Given the description of an element on the screen output the (x, y) to click on. 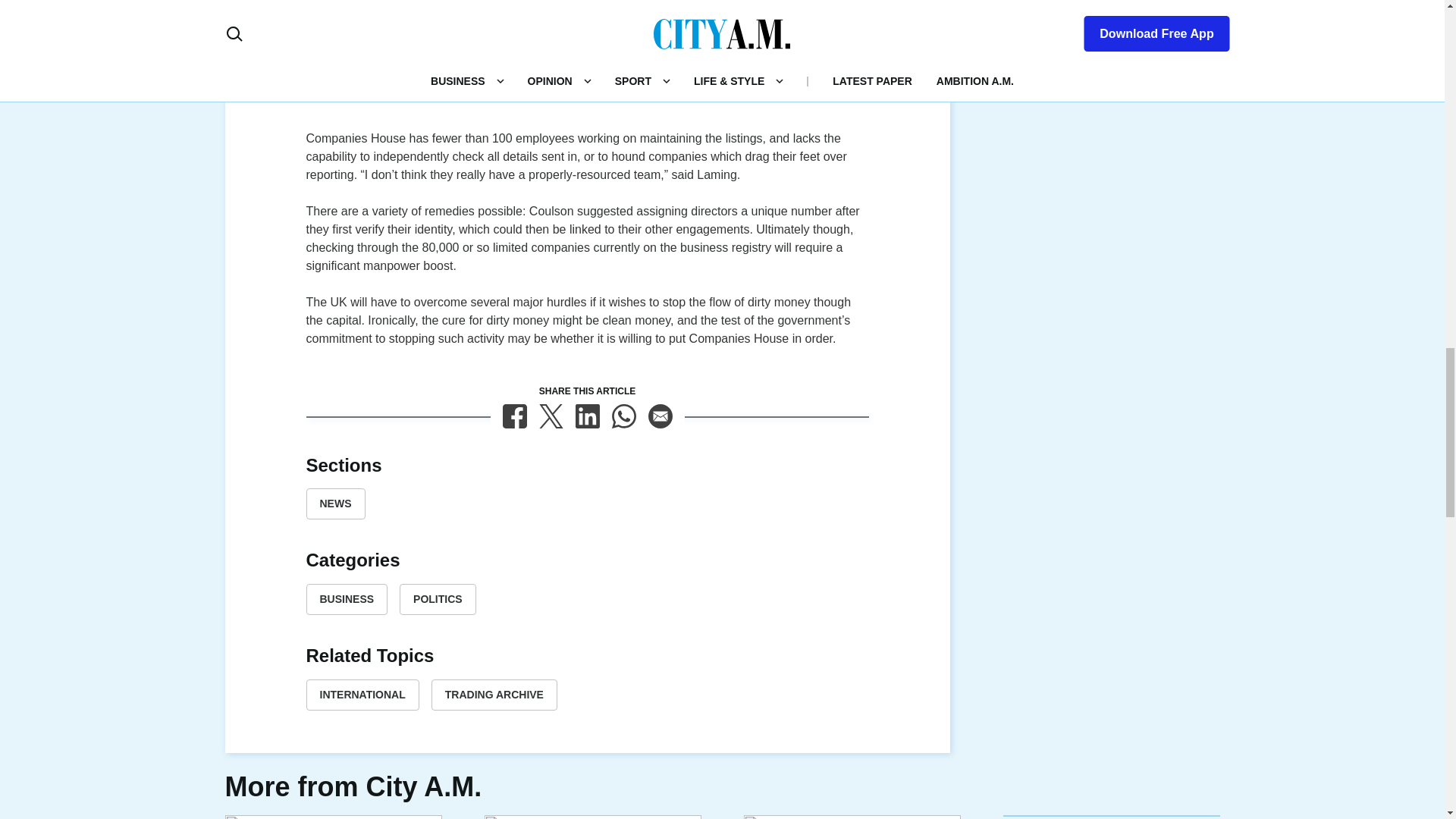
LinkedIn (586, 416)
Facebook (513, 416)
WhatsApp (622, 416)
X (550, 416)
Email (659, 416)
